Given the description of an element on the screen output the (x, y) to click on. 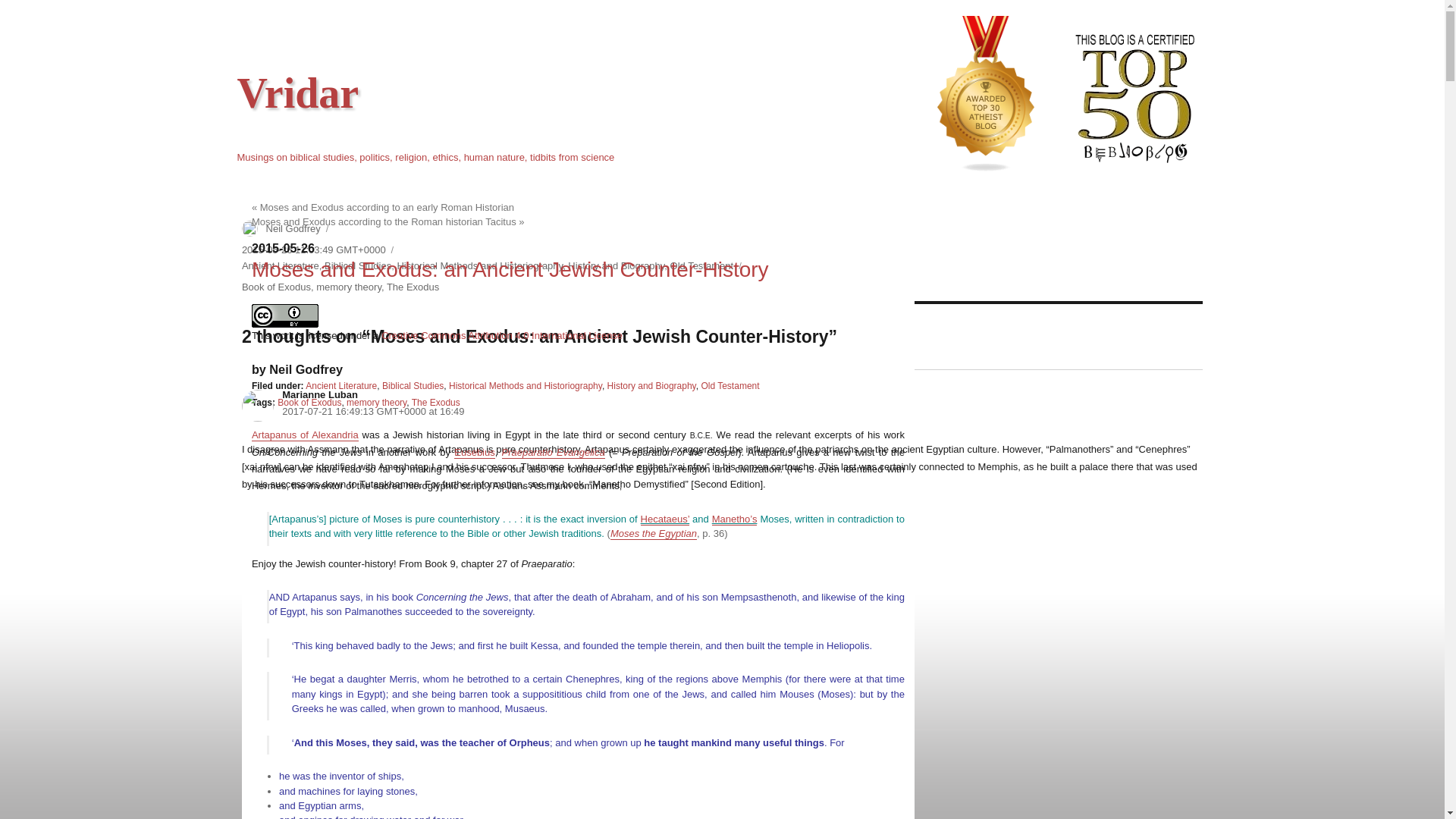
Ancient Literature (279, 265)
Moses the Egyptian (653, 532)
Ancient Literature (341, 385)
Biblical Studies (412, 385)
Creative Commons Attribution 4.0 International License (502, 335)
Artapanus of Alexandria (304, 434)
History and Biography (651, 385)
Historical Methods and Historiography (525, 385)
Vridar (296, 93)
Book of Exodus (309, 402)
